Given the description of an element on the screen output the (x, y) to click on. 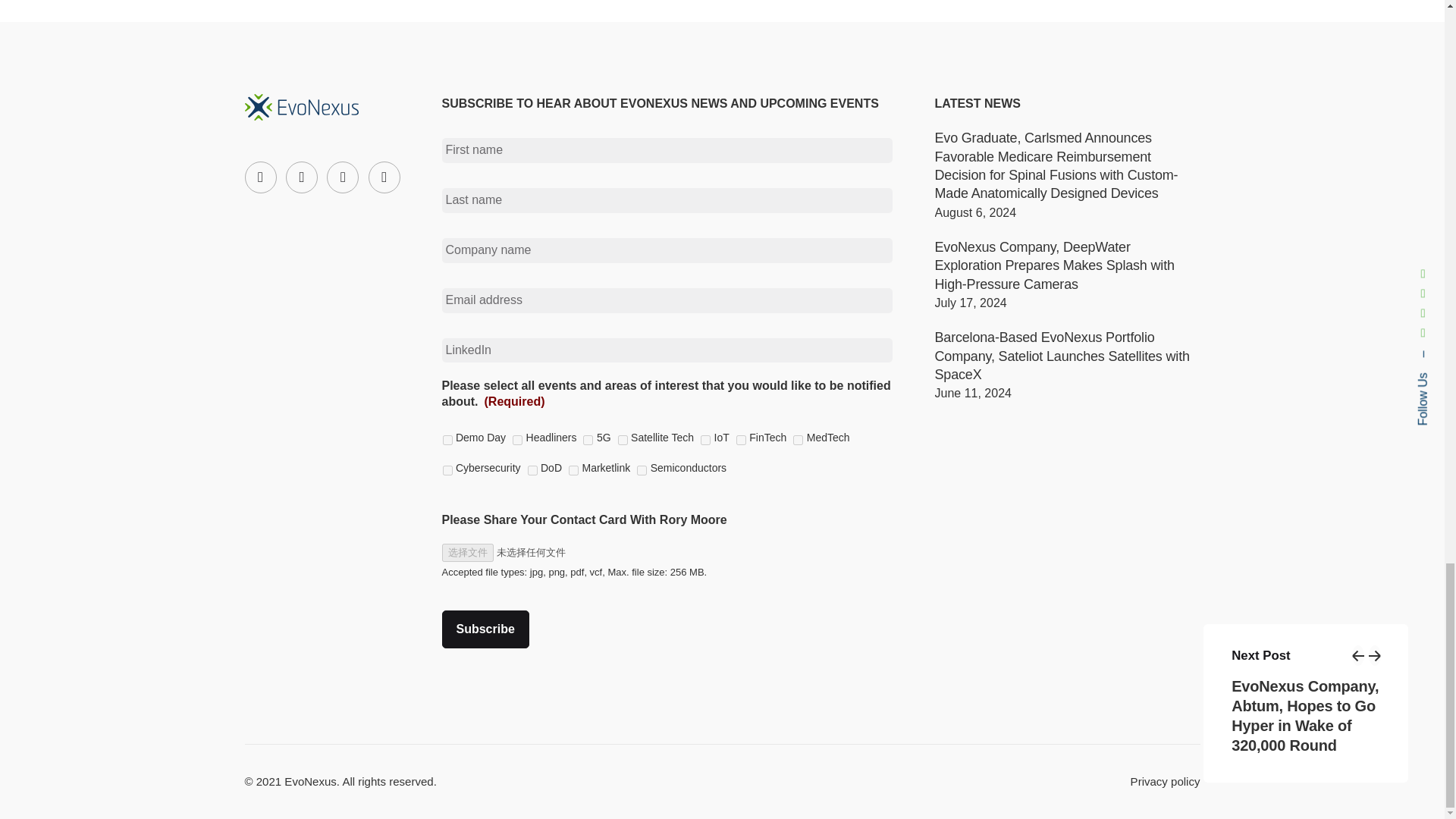
FinTech (740, 439)
Subscribe (484, 629)
Demo Day (447, 439)
5G (587, 439)
Semiconductors (641, 470)
Headliners (517, 439)
IoT (705, 439)
DoD (532, 470)
Marketlink (573, 470)
Cybersecurity (447, 470)
